Given the description of an element on the screen output the (x, y) to click on. 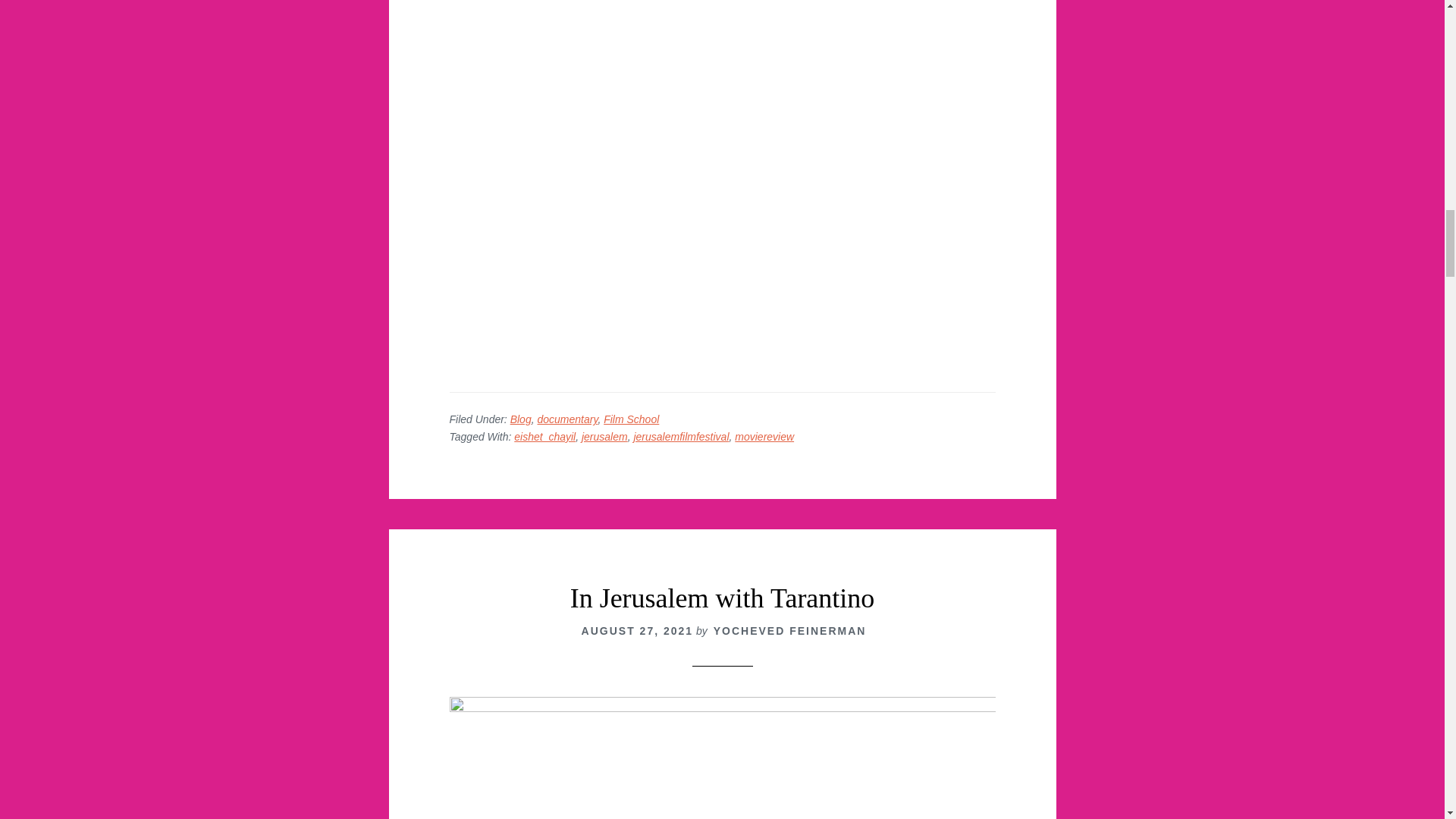
documentary (566, 419)
Blog (521, 419)
Film School (631, 419)
YOCHEVED FEINERMAN (789, 630)
In Jerusalem with Tarantino (722, 598)
moviereview (764, 436)
jerusalemfilmfestival (681, 436)
jerusalem (603, 436)
